Given the description of an element on the screen output the (x, y) to click on. 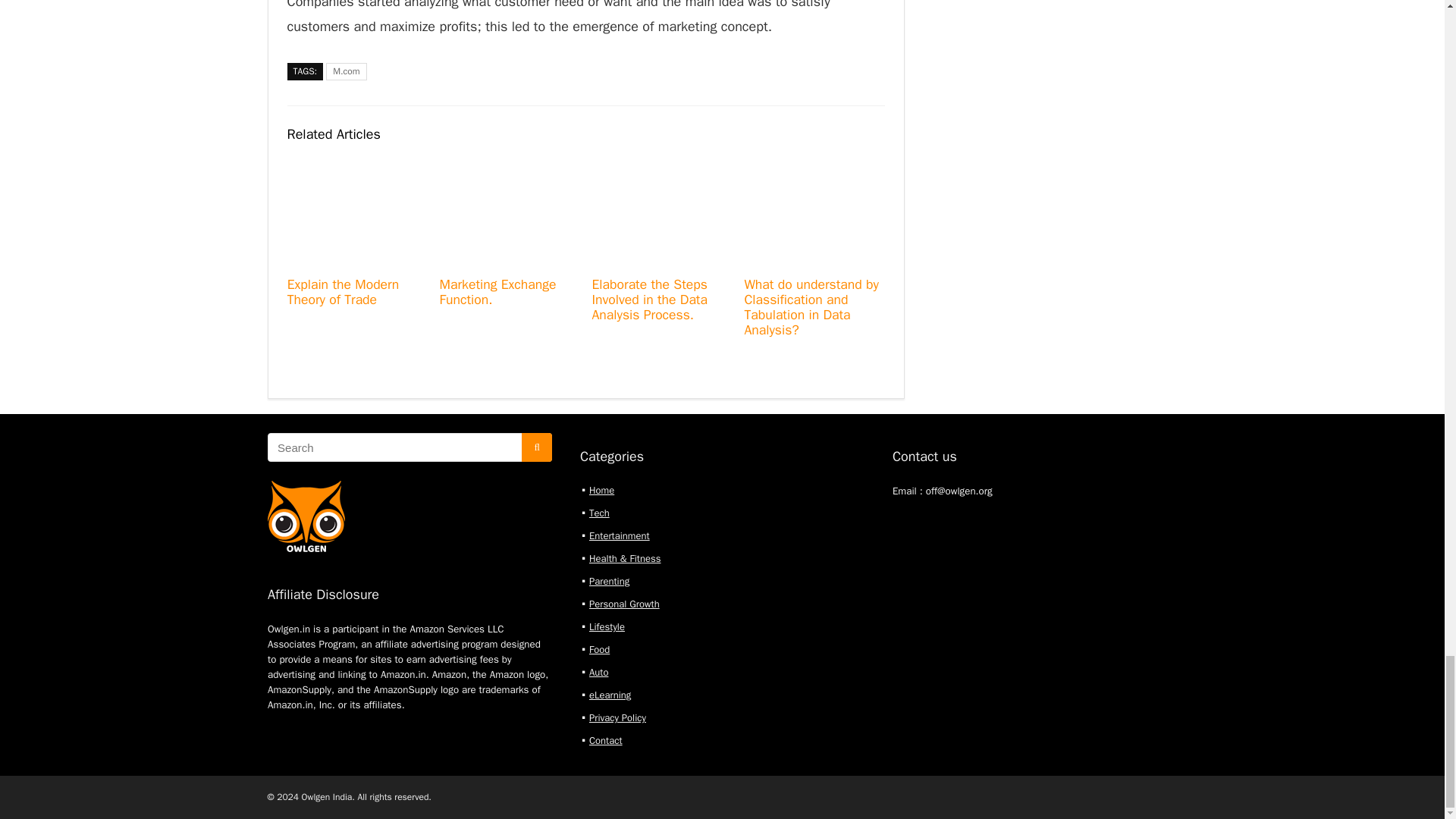
M.com (346, 71)
Explain the Modern Theory of Trade (342, 291)
Marketing Exchange Function. (497, 291)
Elaborate the Steps Involved in the Data Analysis Process. (648, 299)
